Given the description of an element on the screen output the (x, y) to click on. 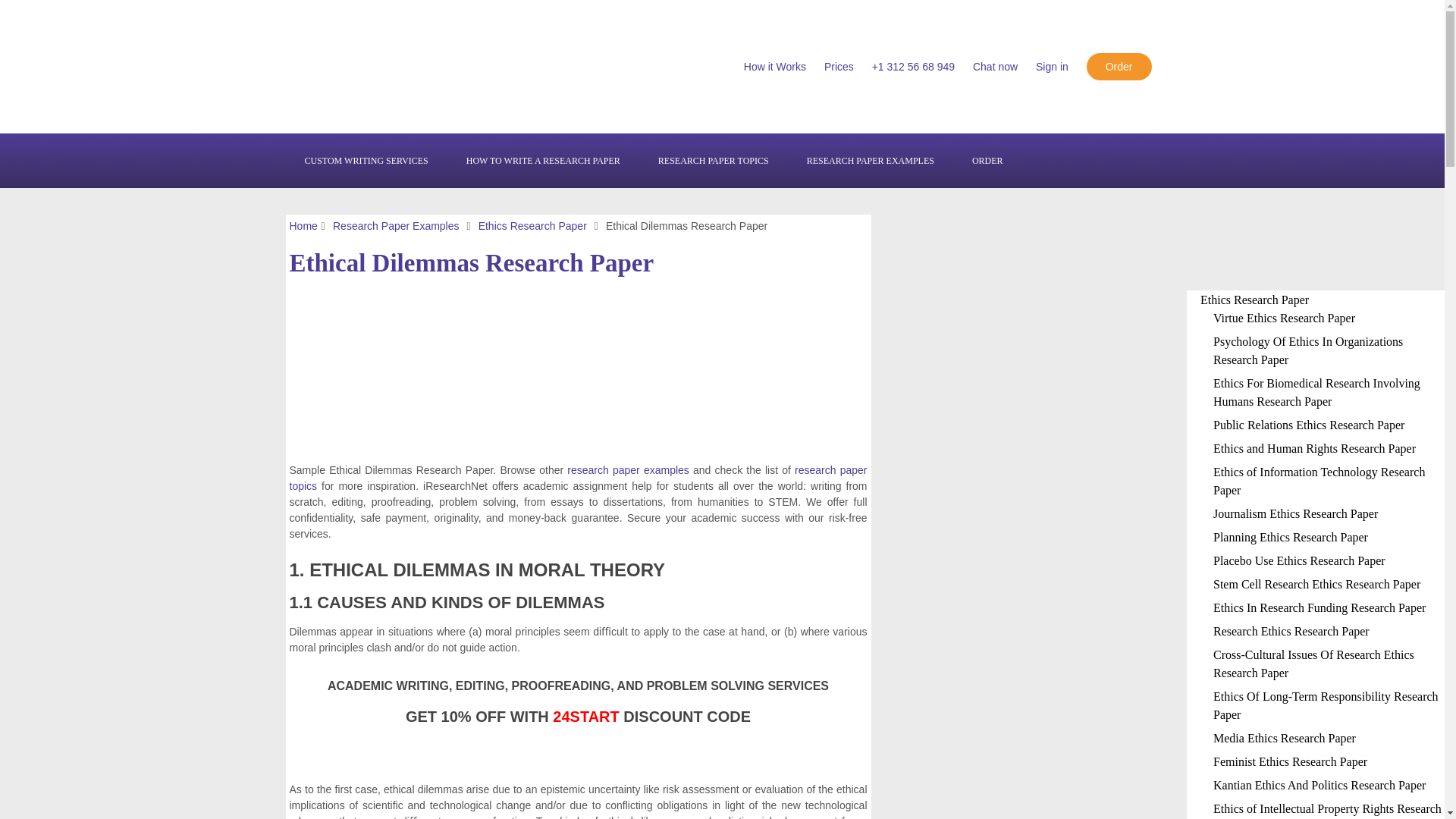
Ethics Research Paper (532, 225)
Journalism Ethics Research Paper (1294, 513)
Planning Ethics Research Paper (1290, 536)
research paper examples (627, 469)
Journalism Ethics Research Paper (1294, 513)
Planning Ethics Research Paper (1290, 536)
Stem Cell Research Ethics Research Paper (1316, 584)
Chat now (994, 66)
Ethics In Research Funding Research Paper (1318, 607)
Virtue Ethics Research Paper (1283, 318)
